Given the description of an element on the screen output the (x, y) to click on. 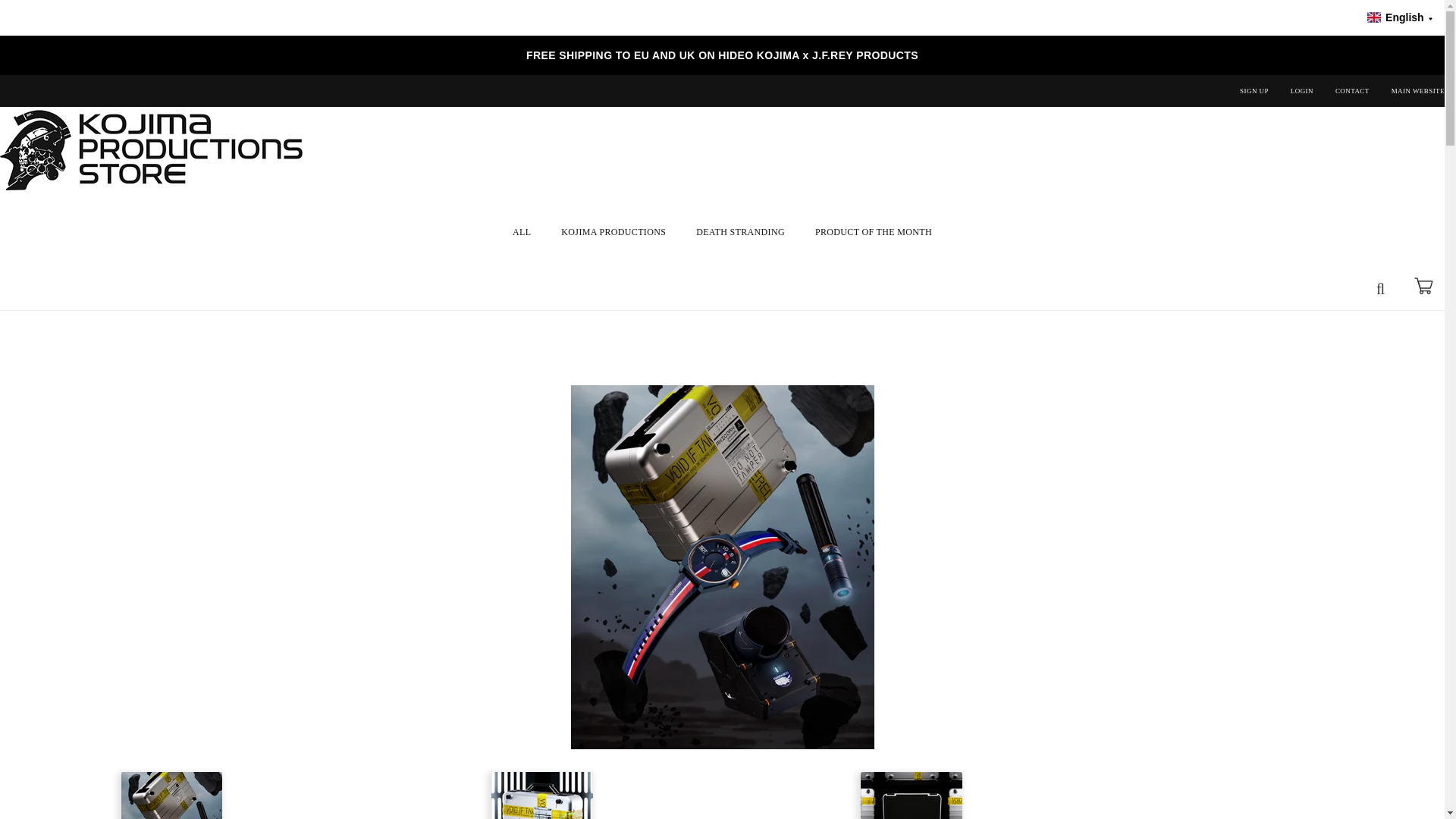
KOJIMA PRODUCTIONS (613, 231)
LOGIN (1301, 90)
CONTACT (1352, 90)
SIGN UP (1254, 90)
